Given the description of an element on the screen output the (x, y) to click on. 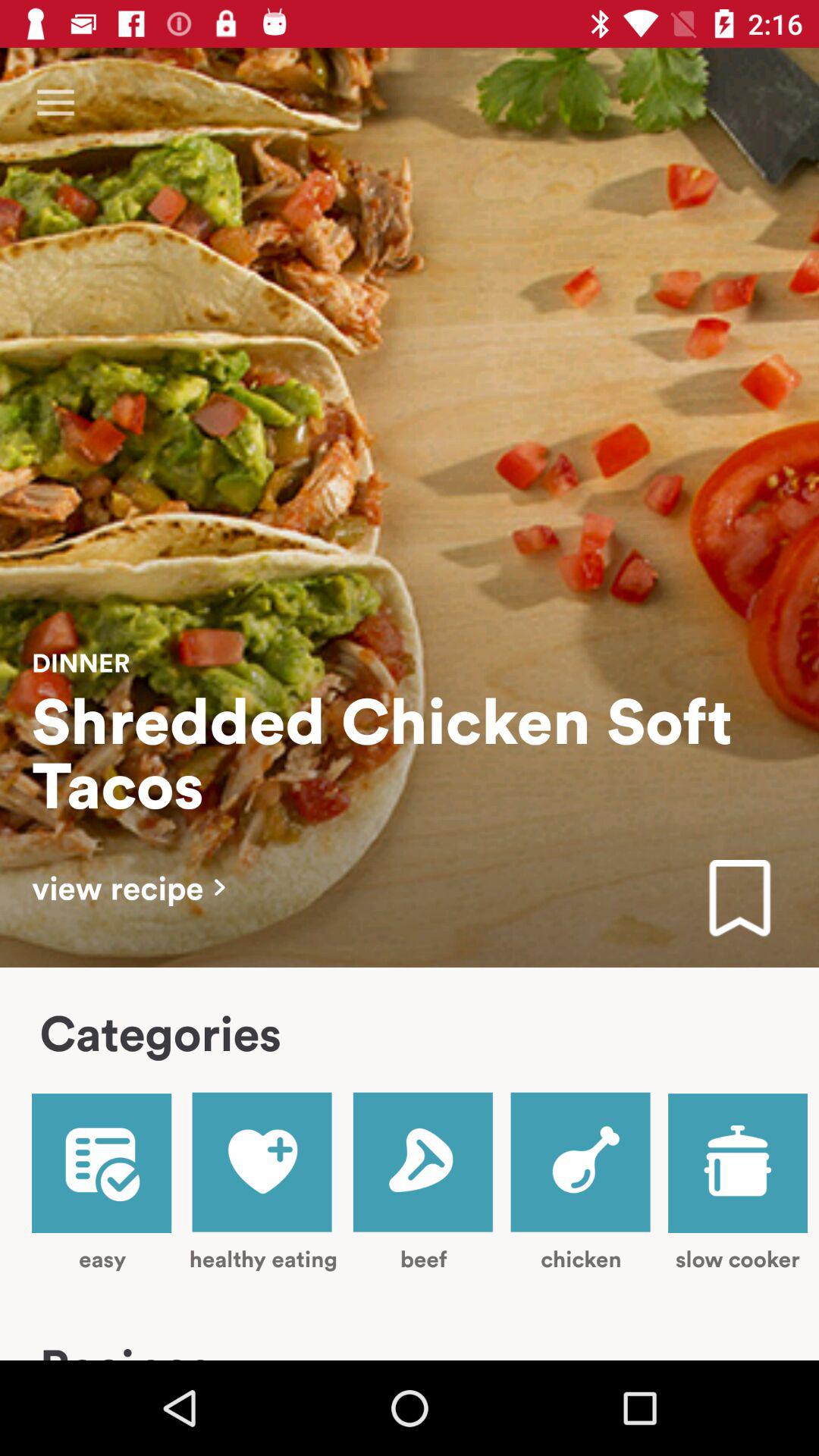
swipe to the easy icon (102, 1182)
